Given the description of an element on the screen output the (x, y) to click on. 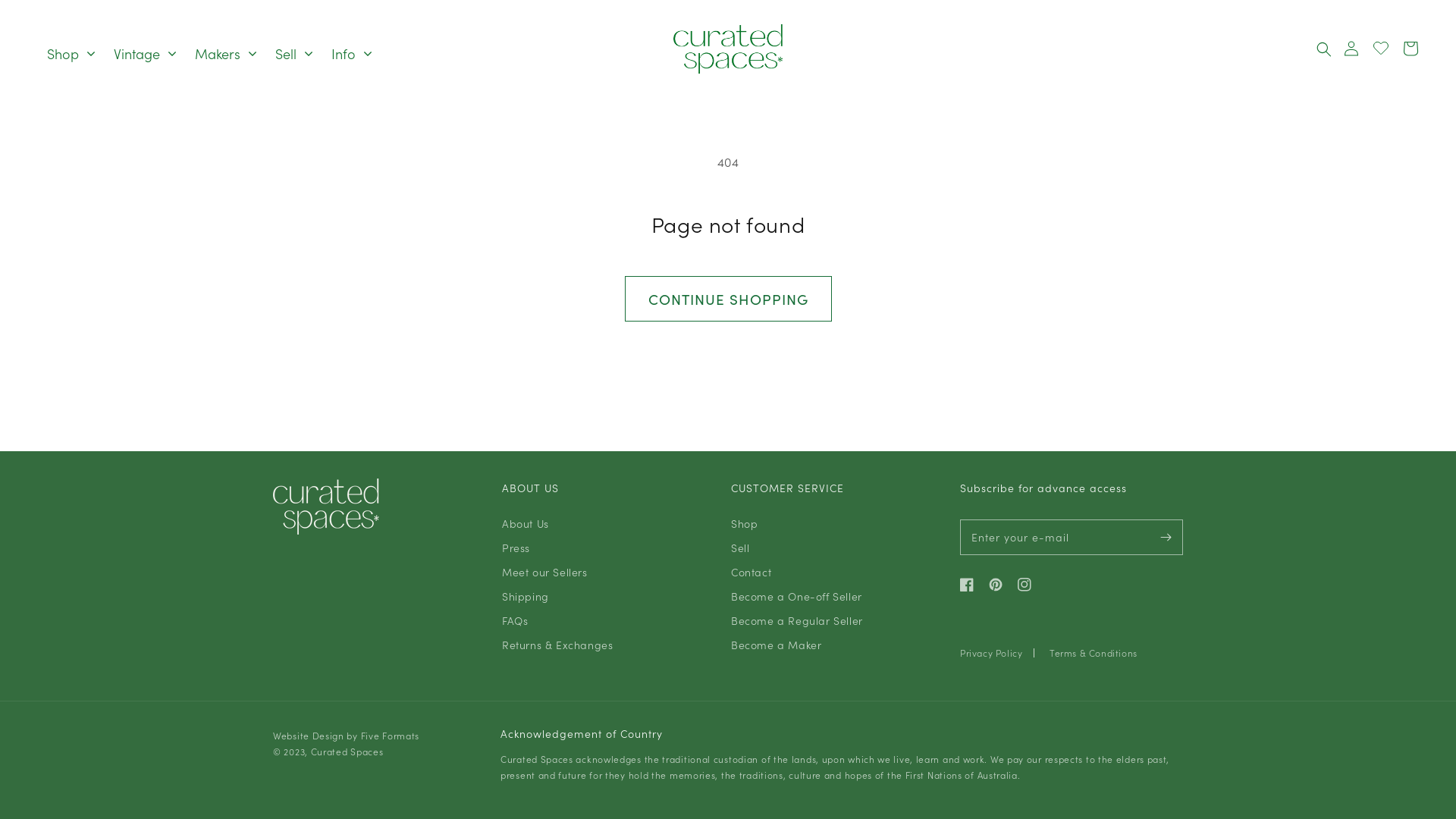
Cart Element type: text (1410, 48)
Makers Element type: text (225, 53)
Five Formats Element type: text (389, 734)
Info Element type: text (351, 53)
Become a Regular Seller Element type: text (796, 620)
About Us Element type: text (525, 524)
FAQs Element type: text (514, 620)
Privacy Policy Element type: text (991, 652)
Pinterest Element type: text (995, 584)
Curated Spaces Element type: text (346, 750)
Become a Maker Element type: text (776, 644)
Sell Element type: text (740, 547)
Returns & Exchanges Element type: text (557, 644)
Shop Element type: text (744, 524)
Instagram Element type: text (1024, 584)
Terms & Conditions Element type: text (1093, 652)
Contact Element type: text (751, 571)
Vintage Element type: text (144, 53)
Shop Element type: text (70, 53)
Press Element type: text (516, 547)
Meet our Sellers Element type: text (544, 571)
Sell Element type: text (294, 53)
Facebook Element type: text (970, 584)
Shipping Element type: text (525, 595)
CONTINUE SHOPPING Element type: text (727, 298)
Log in Element type: text (1376, 48)
Become a One-off Seller Element type: text (796, 595)
